Given the description of an element on the screen output the (x, y) to click on. 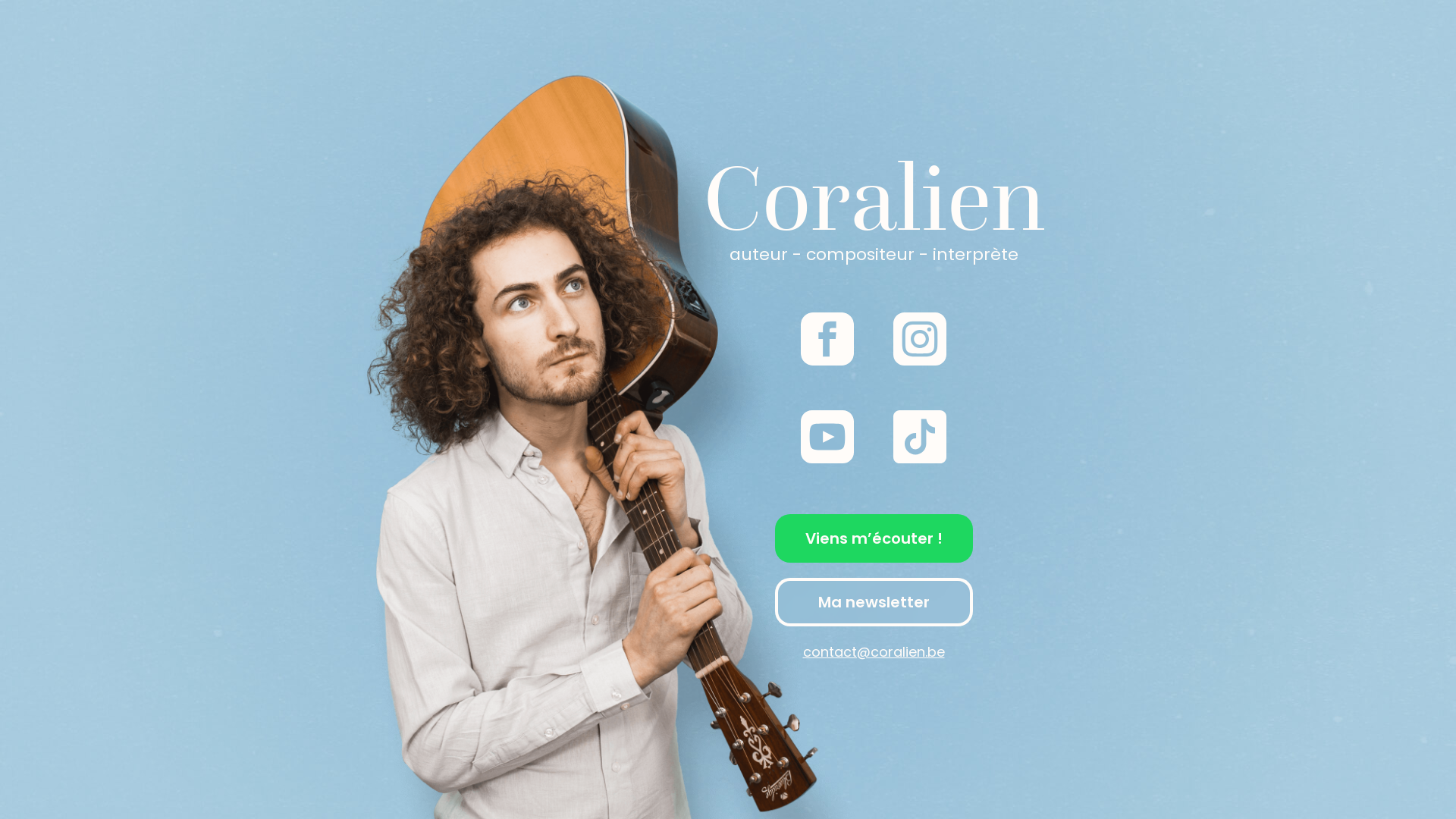
Instagram Instagram icon icon Element type: text (919, 361)
contact@coralien.be Element type: text (873, 651)
Youtube Youtube icon Element type: text (826, 458)
TikTok TikTok icon Element type: text (919, 458)
Facebook Facebook icon Element type: text (826, 361)
Ma newsletter Element type: text (873, 601)
